Given the description of an element on the screen output the (x, y) to click on. 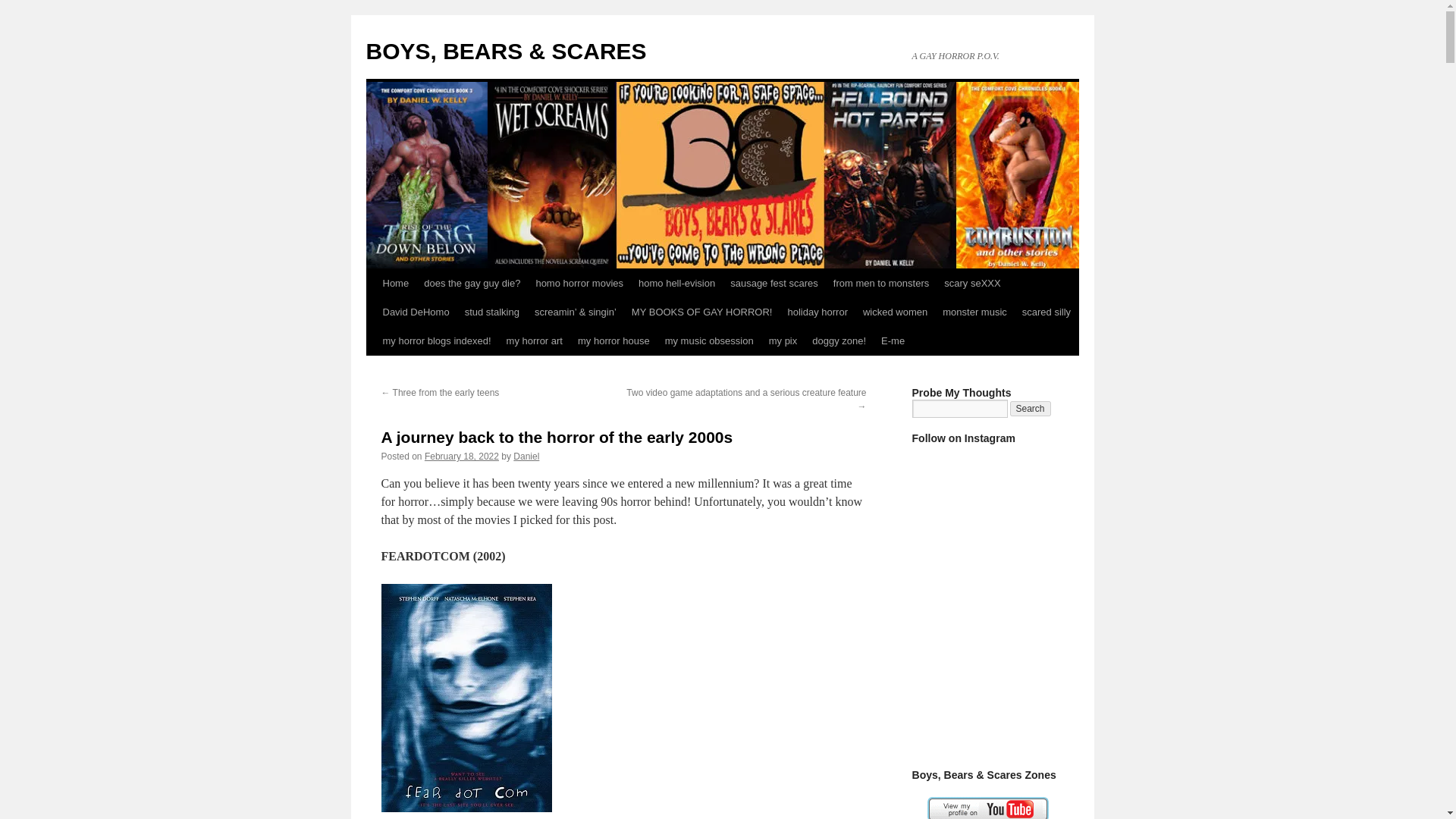
monster music (974, 312)
Search (1030, 408)
9:30 am (462, 456)
sausage fest scares (773, 283)
scared silly (1046, 312)
Daniel (525, 456)
does the gay guy die? (471, 283)
wicked women (895, 312)
homo horror movies (578, 283)
Skip to content (372, 311)
my music obsession (709, 340)
February 18, 2022 (462, 456)
homo hell-evision (676, 283)
David DeHomo (415, 312)
my horror blogs indexed! (435, 340)
